Given the description of an element on the screen output the (x, y) to click on. 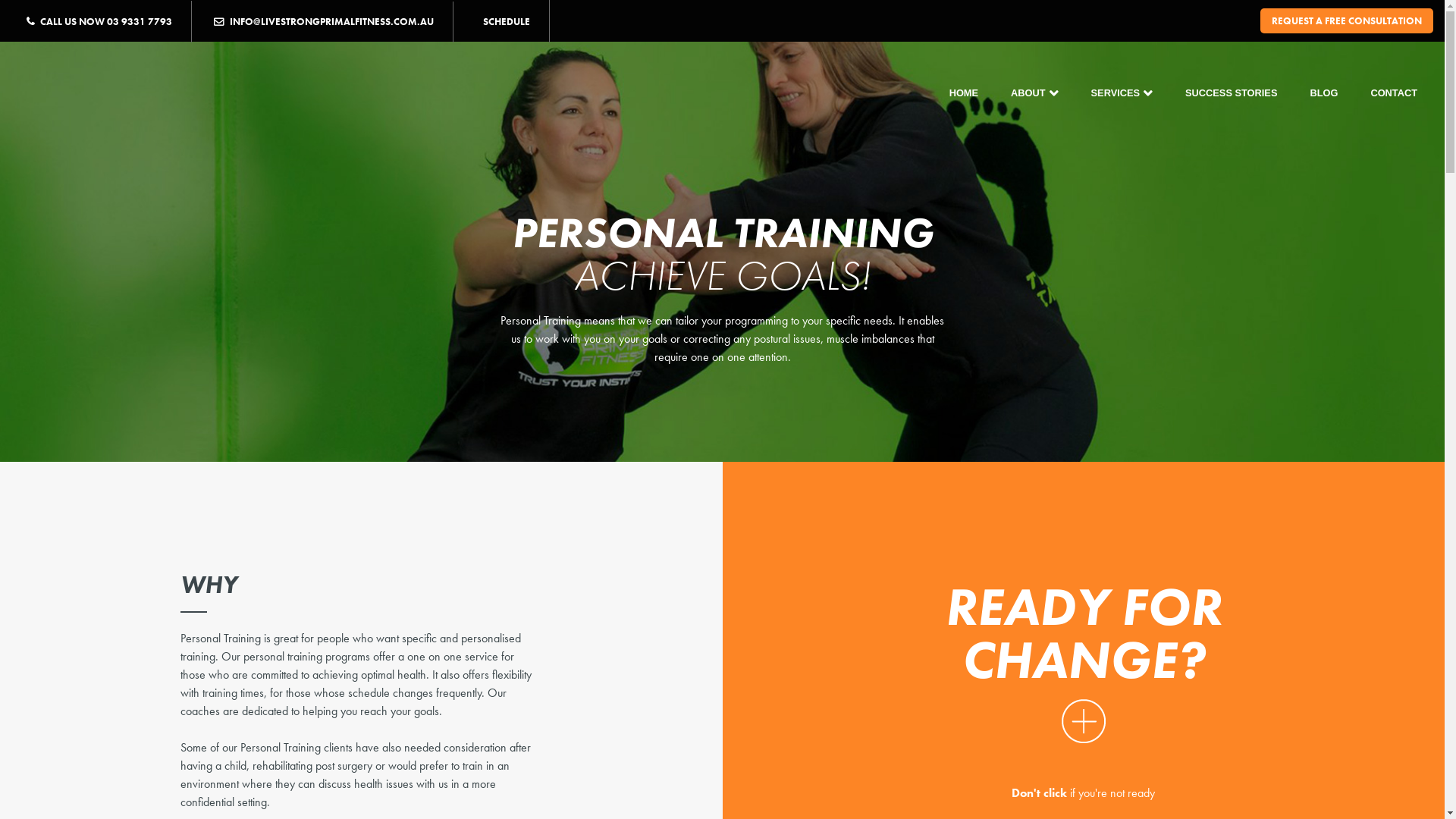
CONTACT Element type: text (1404, 92)
BLOG Element type: text (1334, 92)
CALL US NOW 03 9331 7793 Element type: text (108, 21)
INFO@LIVESTRONGPRIMALFITNESS.COM.AU Element type: text (323, 21)
HOME Element type: text (974, 92)
SERVICES Element type: text (1132, 92)
SUCCESS STORIES Element type: text (1241, 92)
SCHEDULE Element type: text (502, 21)
ABOUT Element type: text (1045, 92)
REQUEST A FREE CONSULTATION Element type: text (1346, 20)
